Given the description of an element on the screen output the (x, y) to click on. 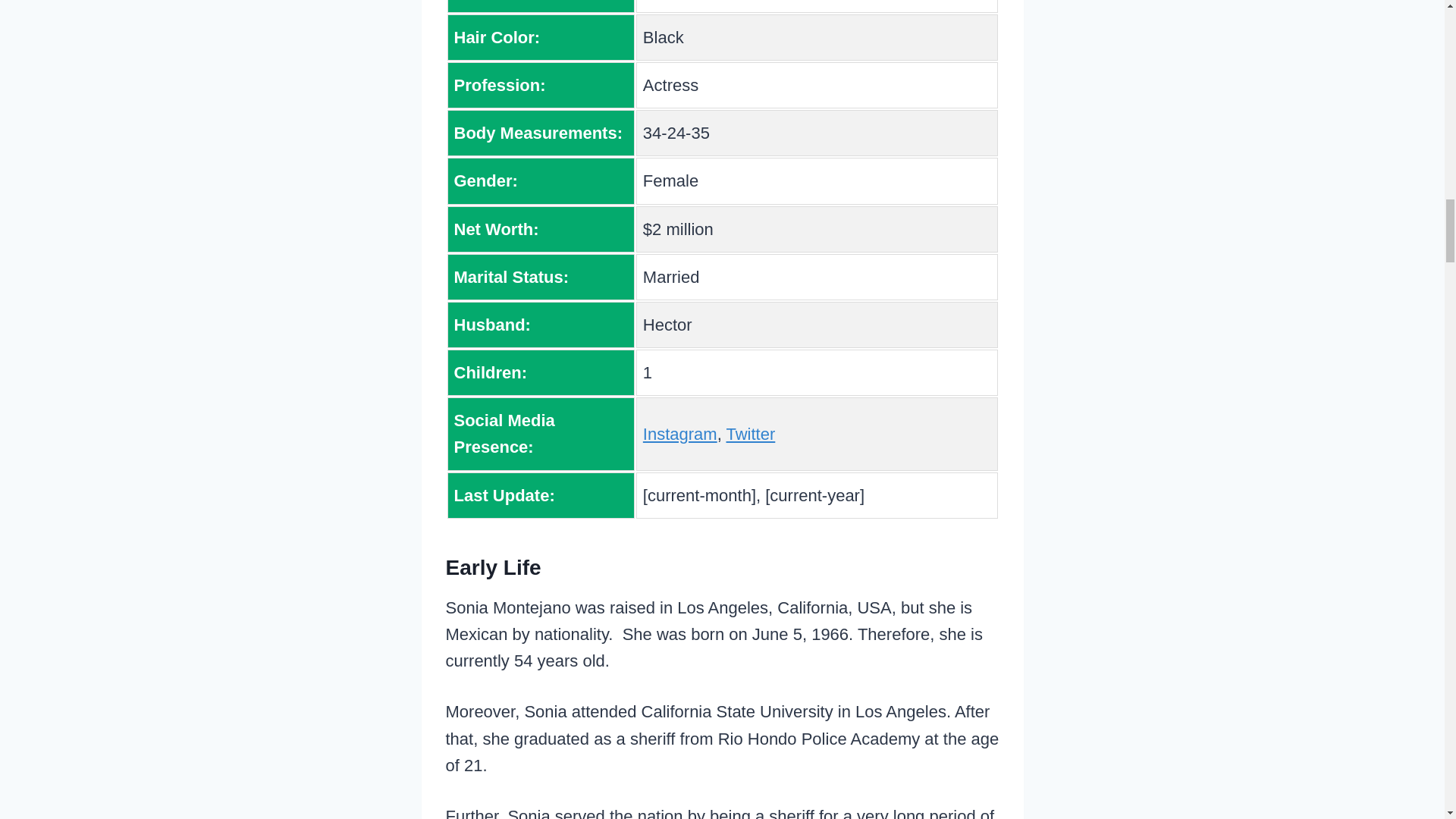
Instagram (680, 434)
Twitter (751, 434)
